Given the description of an element on the screen output the (x, y) to click on. 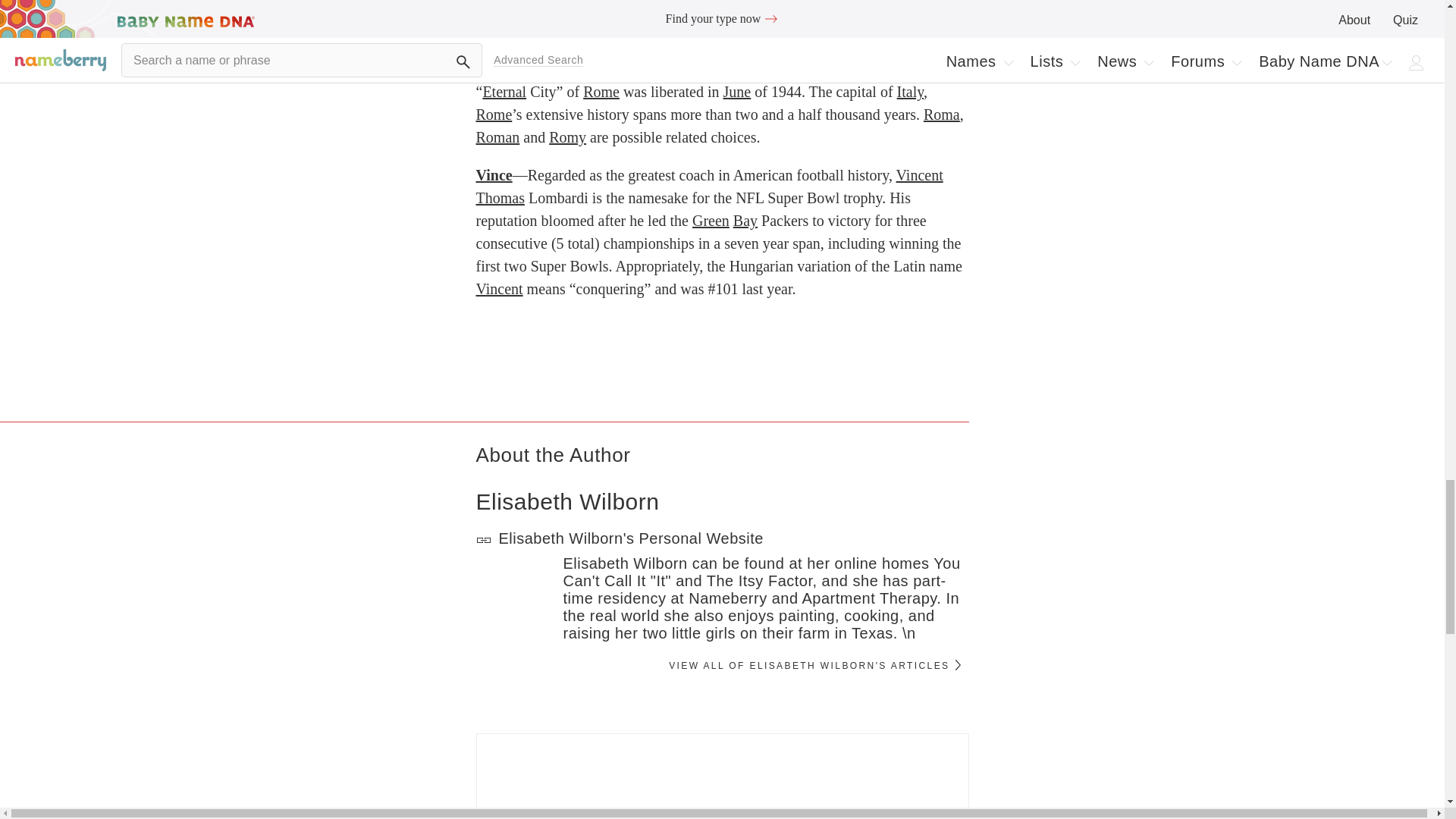
Link (484, 539)
Sign up for the Nameberry Newsletter (722, 776)
